Given the description of an element on the screen output the (x, y) to click on. 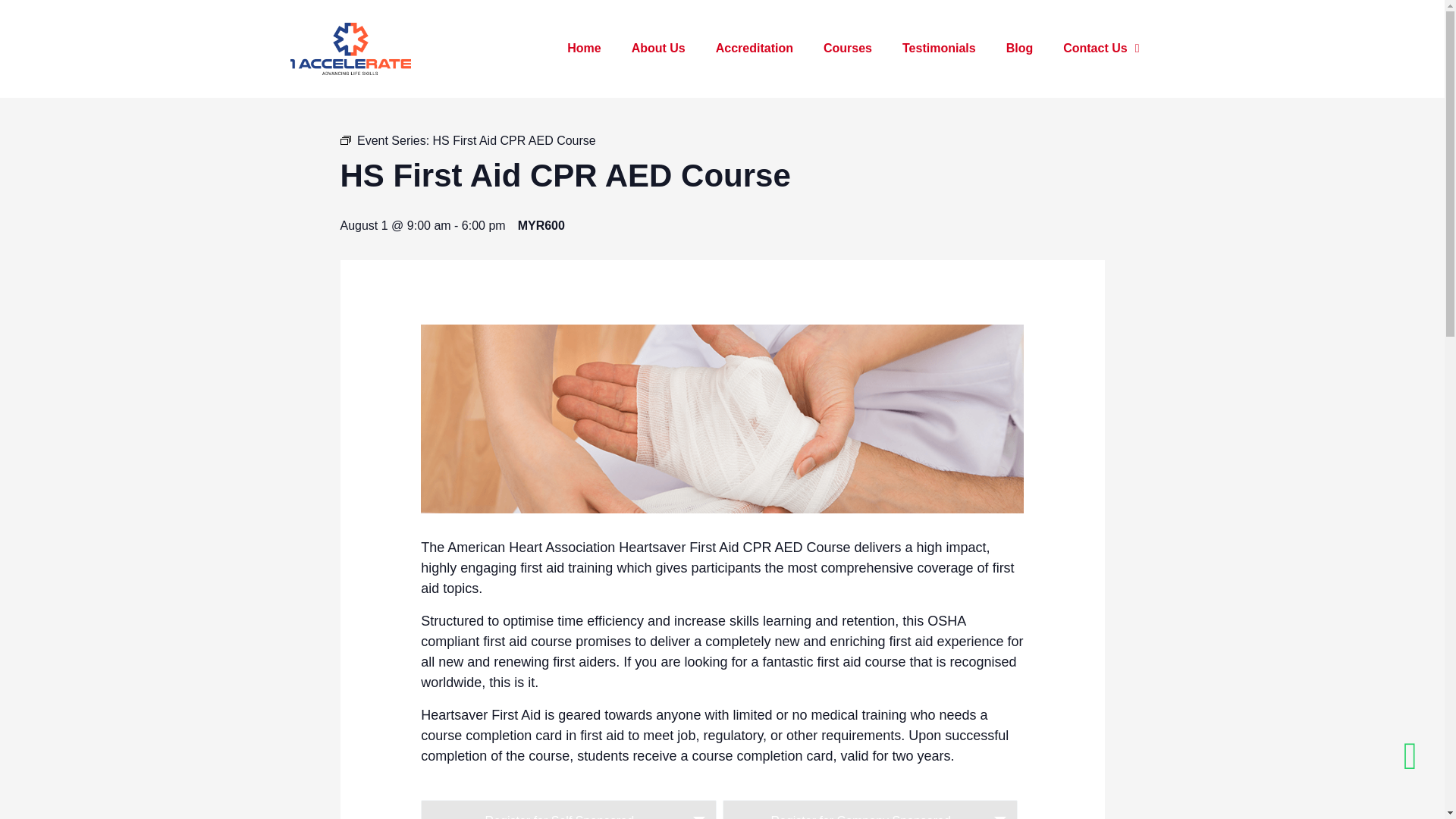
Testimonials (938, 48)
HS First Aid CPR AED Course (513, 140)
Accreditation (754, 48)
Event Series (344, 139)
Blog (1019, 48)
Event Series: (344, 140)
About Us (657, 48)
Contact Us (1101, 48)
Home (583, 48)
Courses (847, 48)
